Given the description of an element on the screen output the (x, y) to click on. 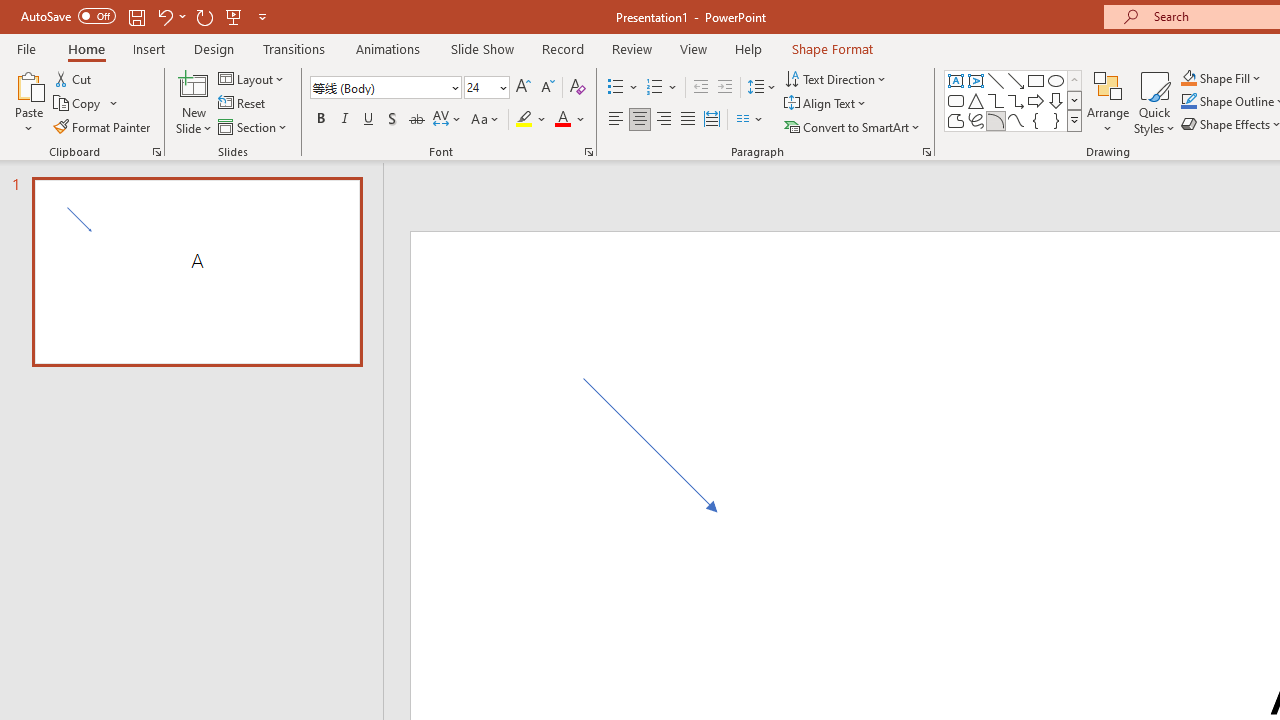
Shape Fill Orange, Accent 2 (1188, 78)
